Given the description of an element on the screen output the (x, y) to click on. 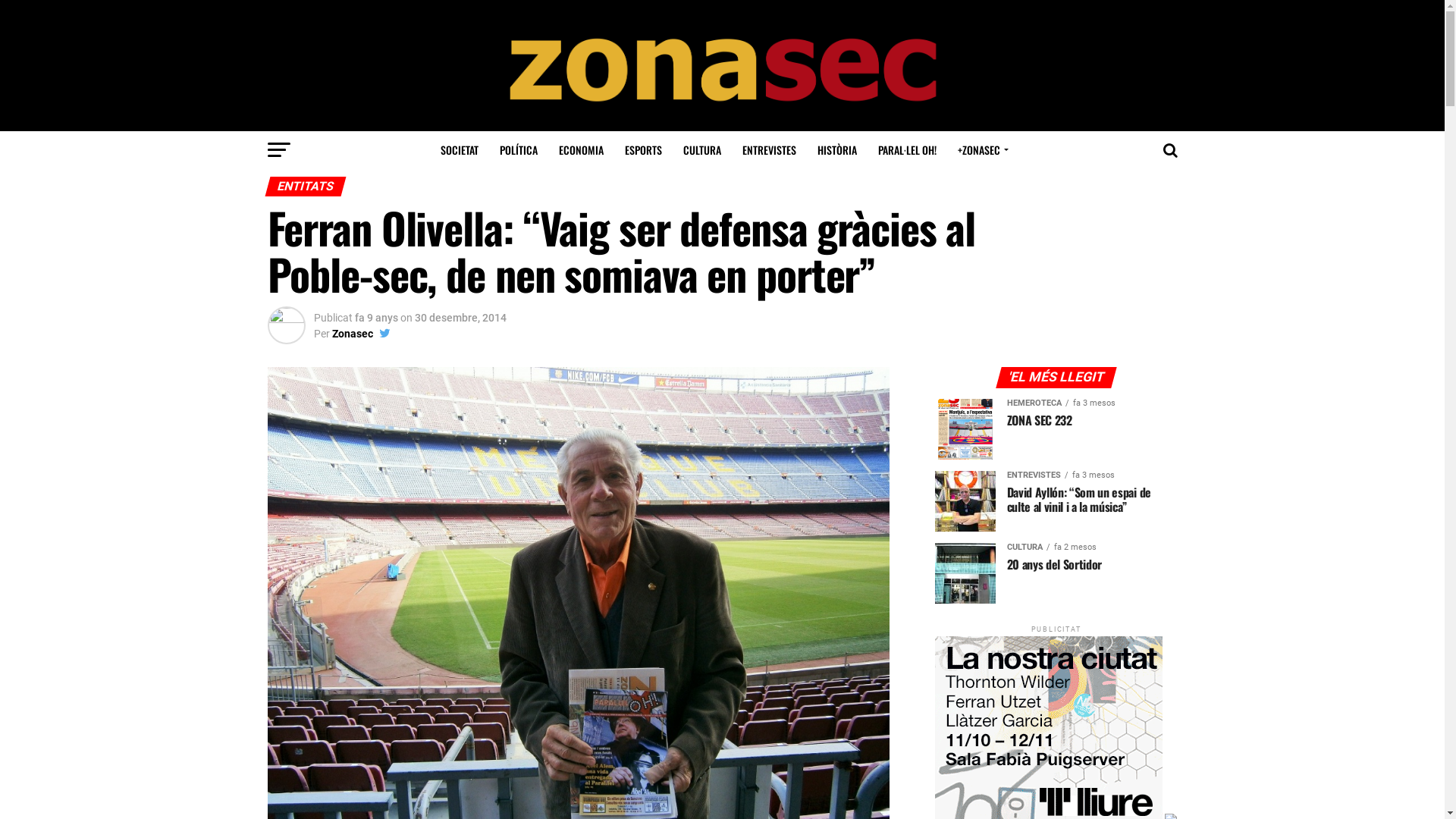
ESPORTS Element type: text (643, 150)
ENTREVISTES Element type: text (769, 150)
Zonasec Element type: text (352, 333)
ECONOMIA Element type: text (580, 150)
CULTURA Element type: text (702, 150)
+ZONASEC Element type: text (980, 150)
SOCIETAT Element type: text (459, 150)
